Given the description of an element on the screen output the (x, y) to click on. 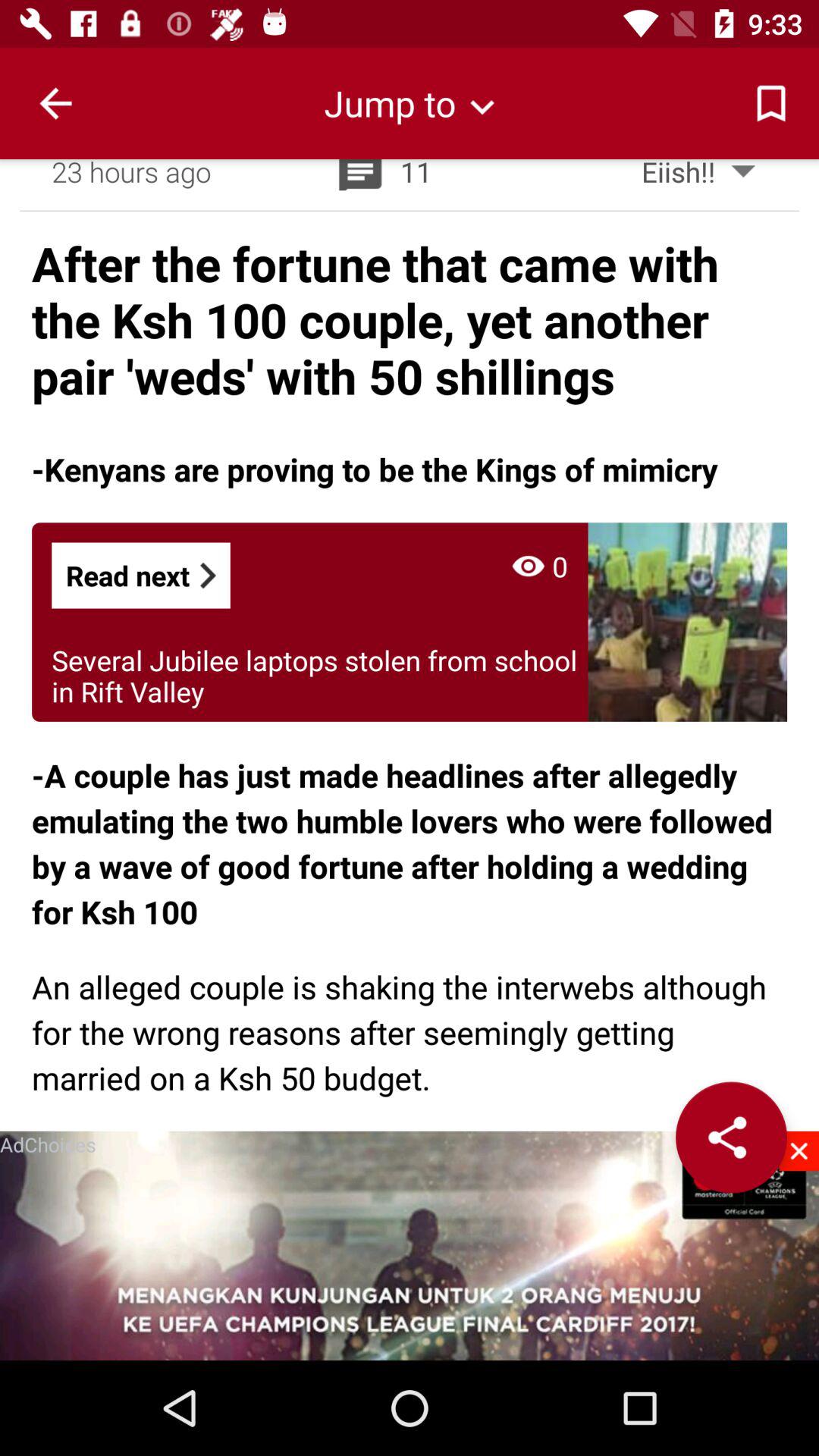
launch the icon above 23 hours ago (55, 103)
